Given the description of an element on the screen output the (x, y) to click on. 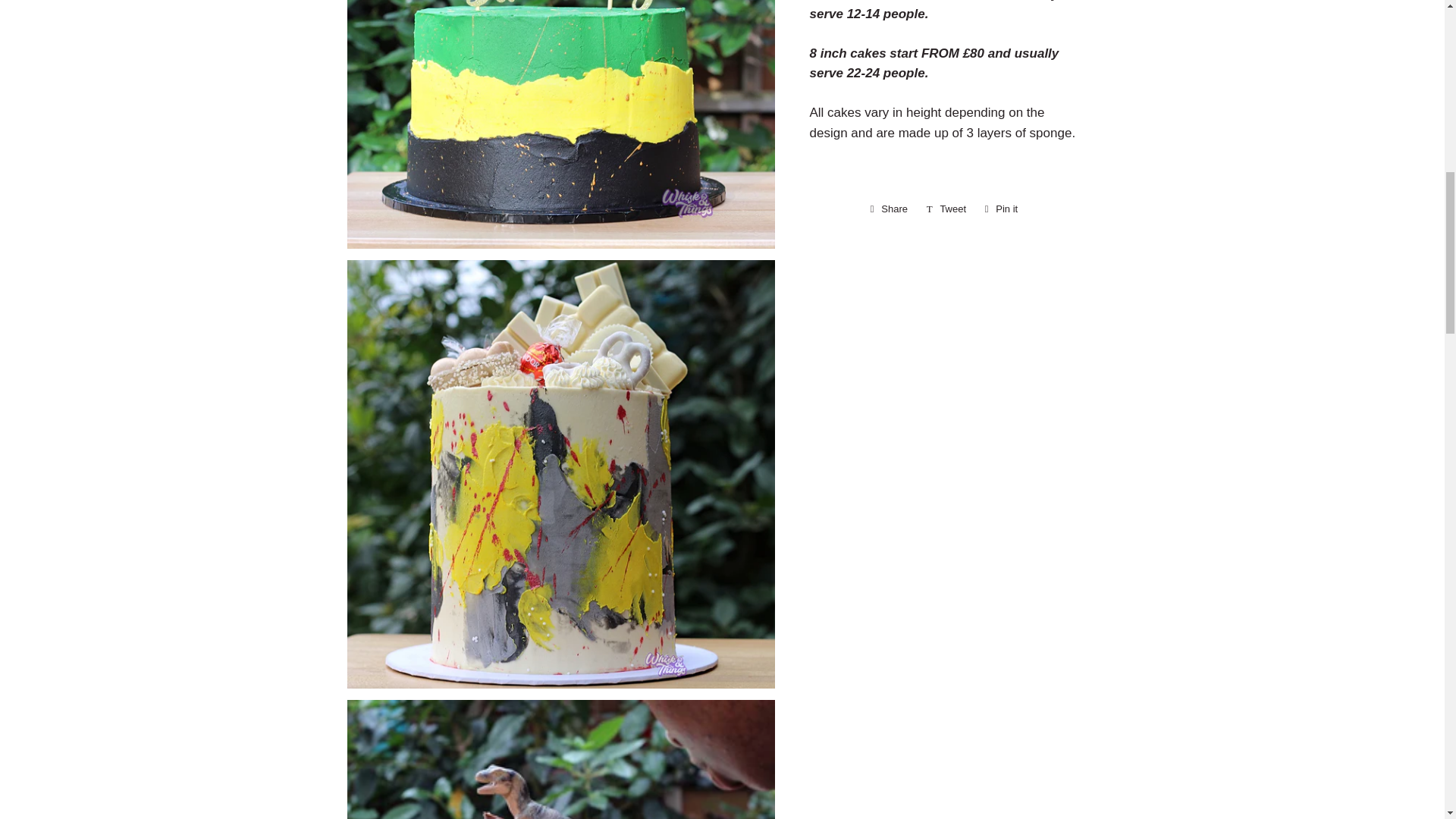
Tweet on Twitter (946, 209)
Pin on Pinterest (1000, 209)
Share on Facebook (889, 209)
